Given the description of an element on the screen output the (x, y) to click on. 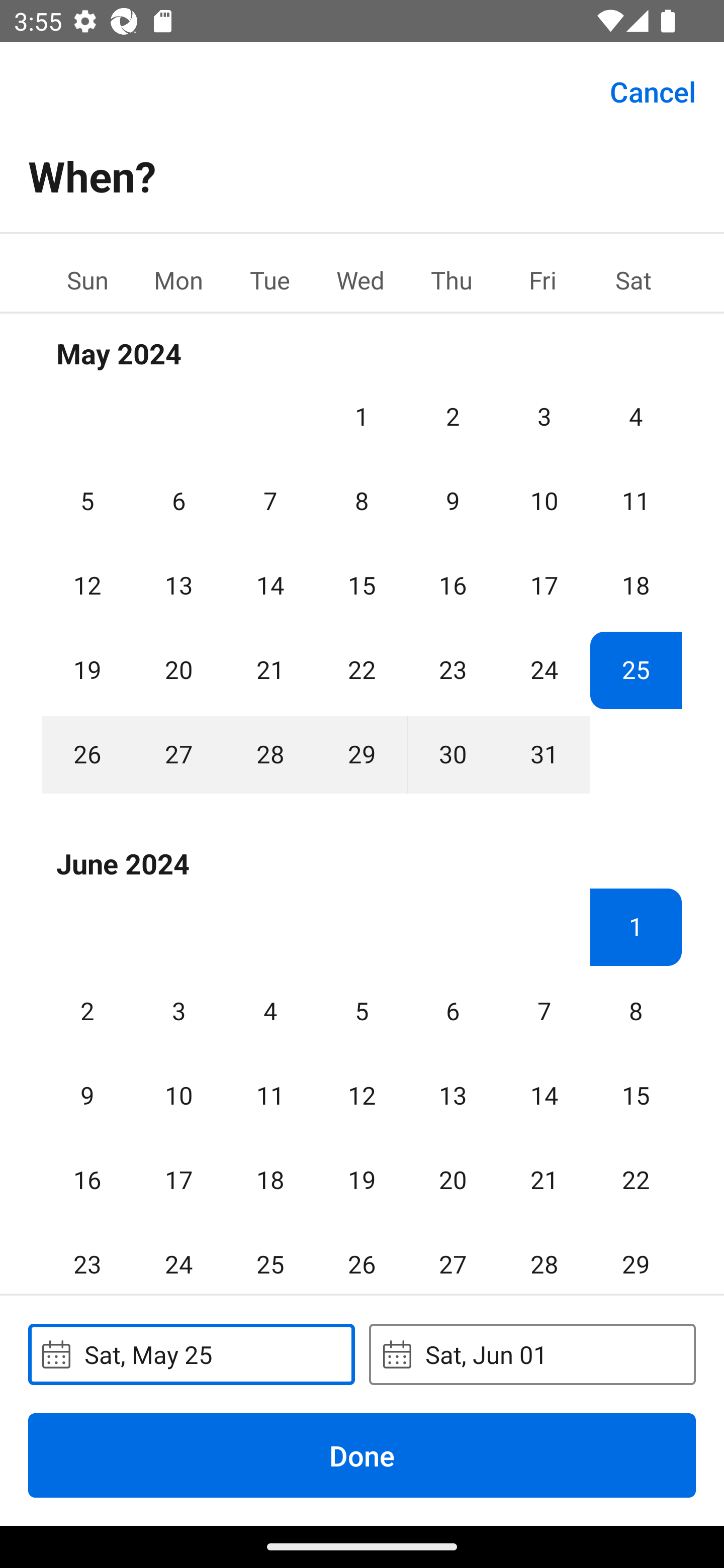
Cancel (652, 90)
Sat, May 25 (191, 1353)
Sat, Jun 01 (532, 1353)
Done (361, 1454)
